Given the description of an element on the screen output the (x, y) to click on. 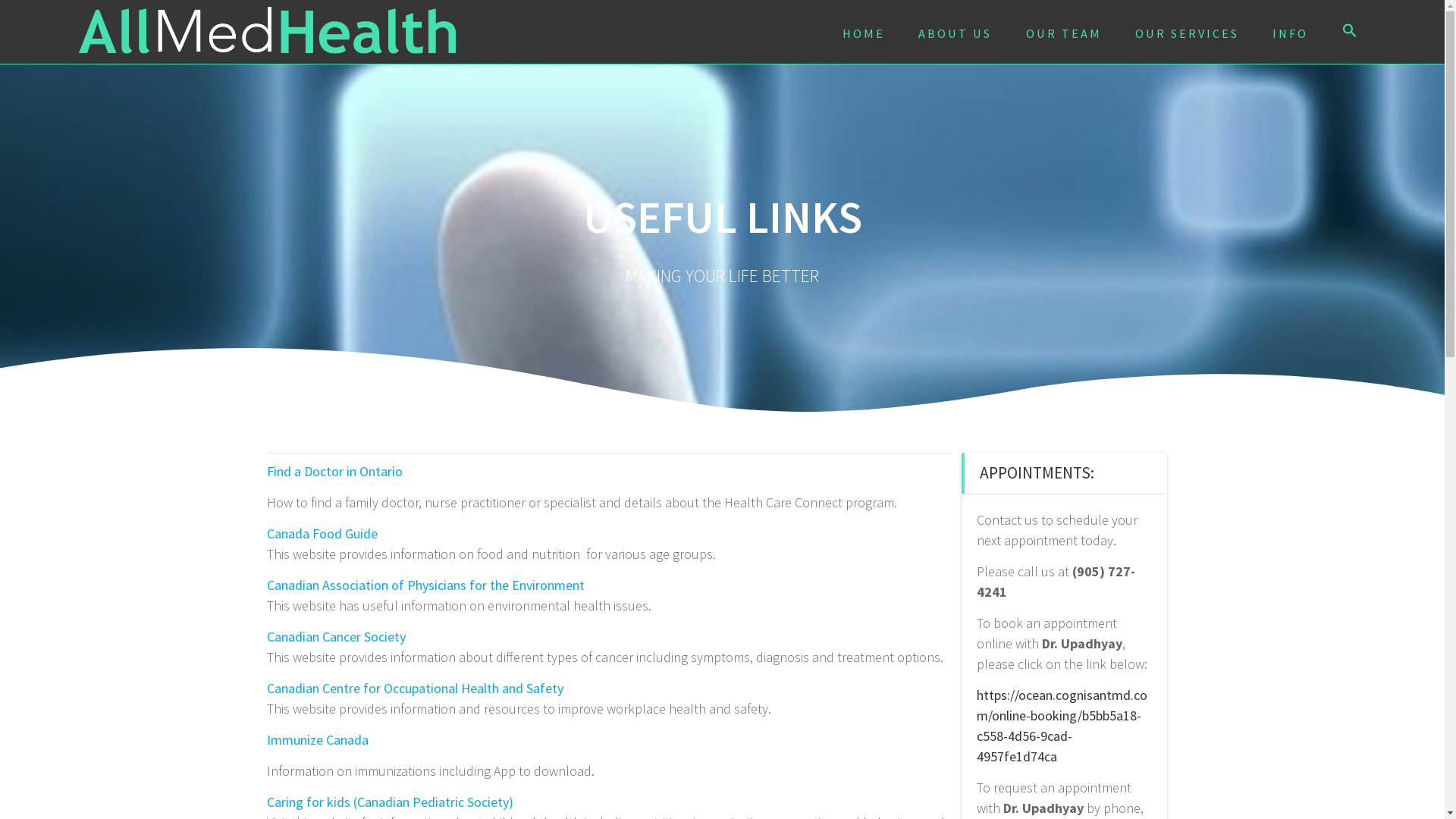
Canadian Association of Physicians for the Environment Element type: text (425, 584)
HOME Element type: text (863, 33)
Canada Food Guide Element type: text (321, 533)
INFO Element type: text (1290, 33)
Immunize Canada Element type: text (317, 739)
Caring for kids (Canadian Pediatric Society) Element type: text (389, 801)
OUR TEAM Element type: text (1063, 33)
ABOUT US Element type: text (954, 33)
OUR SERVICES Element type: text (1187, 33)
Canadian Centre for Occupational Health and Safety Element type: text (414, 687)
Canadian Cancer Society Element type: text (335, 636)
Find a Doctor in Ontario Element type: text (334, 471)
